Given the description of an element on the screen output the (x, y) to click on. 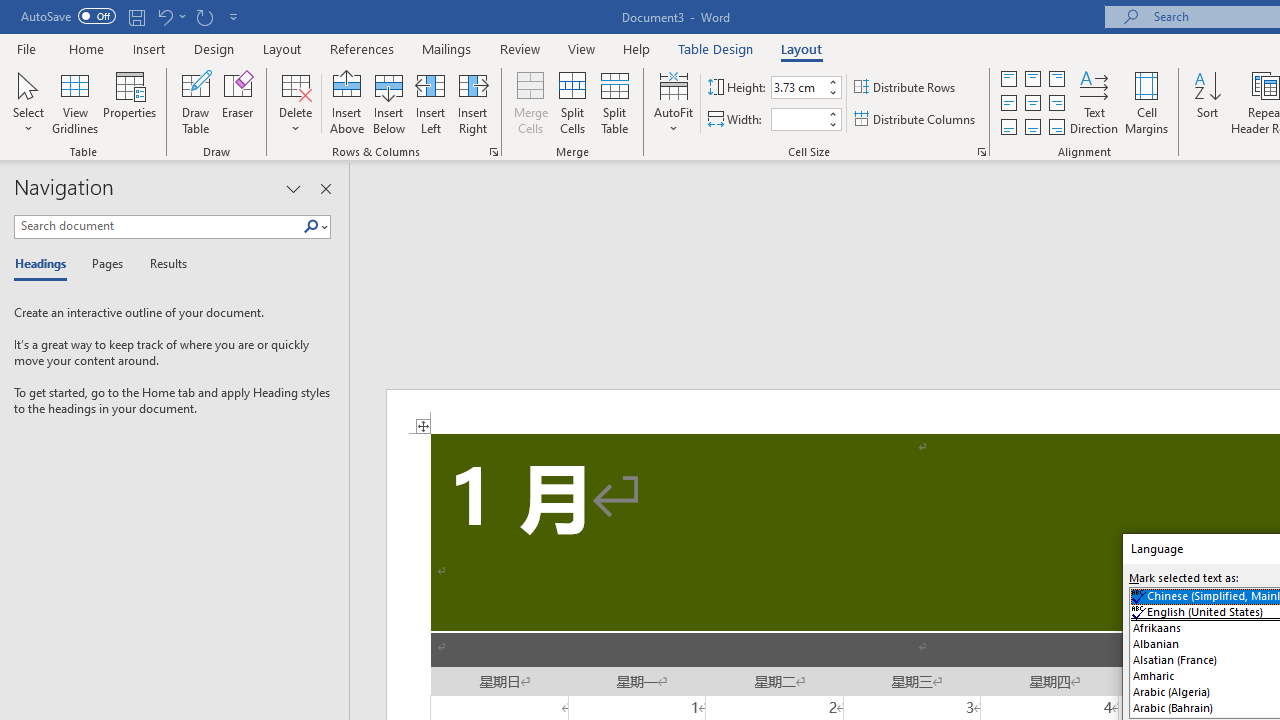
Sort... (1207, 102)
Align Bottom Right (1056, 126)
Align Bottom Center (1032, 126)
Table Column Width (797, 119)
Search (311, 227)
